Given the description of an element on the screen output the (x, y) to click on. 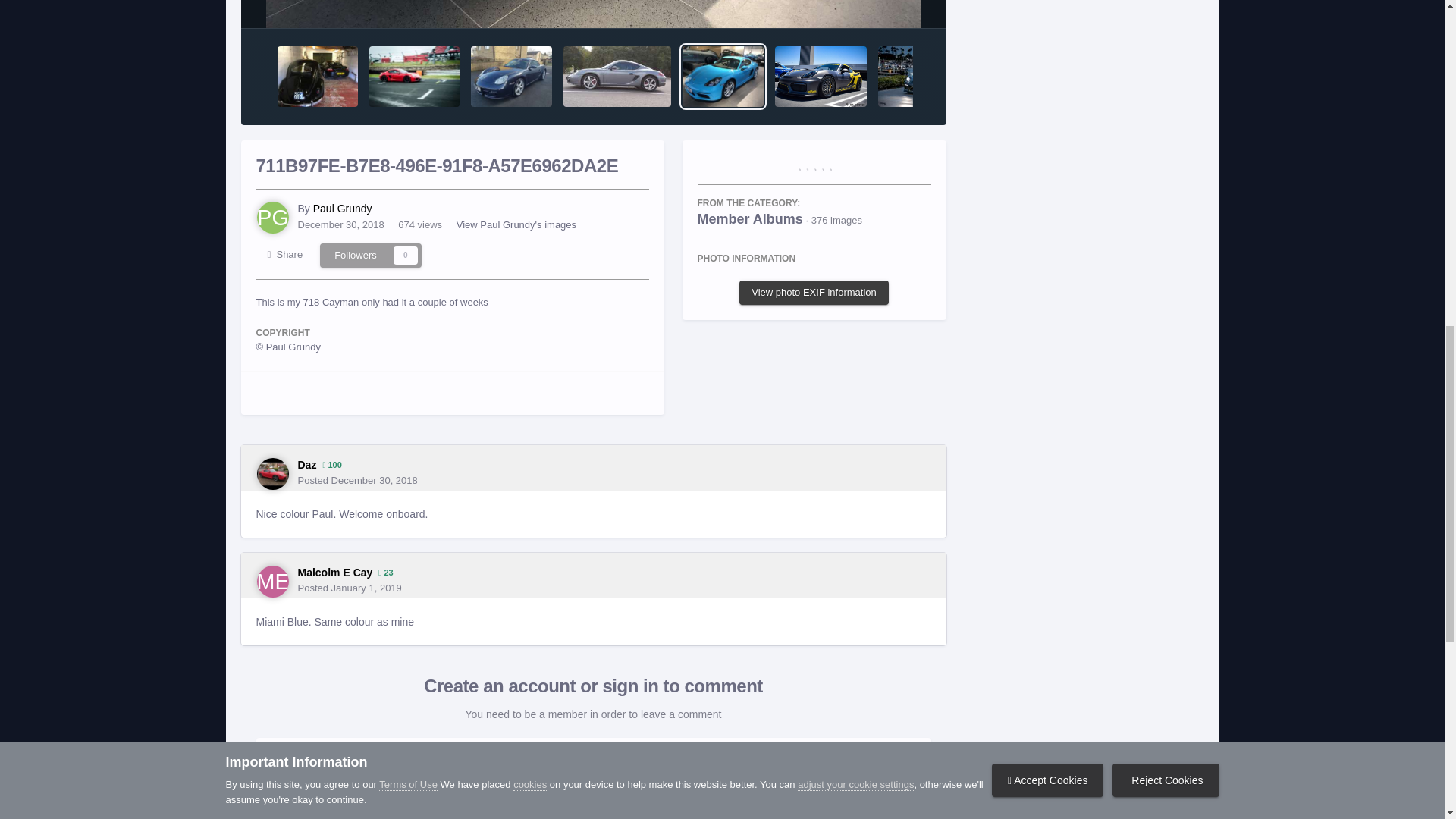
View in lightbox (592, 13)
Go to Paul Grundy's profile (272, 217)
Go to Paul Grundy's profile (342, 208)
View the image porschenight.jpg (923, 76)
View the image BrandsHatch2 (414, 76)
View the image Screen Shot 2017-05-01 at 8.52.14 PM.png (820, 76)
View the image 711B97FE-B7E8-496E-91F8-A57E6962DA2E (722, 76)
